Given the description of an element on the screen output the (x, y) to click on. 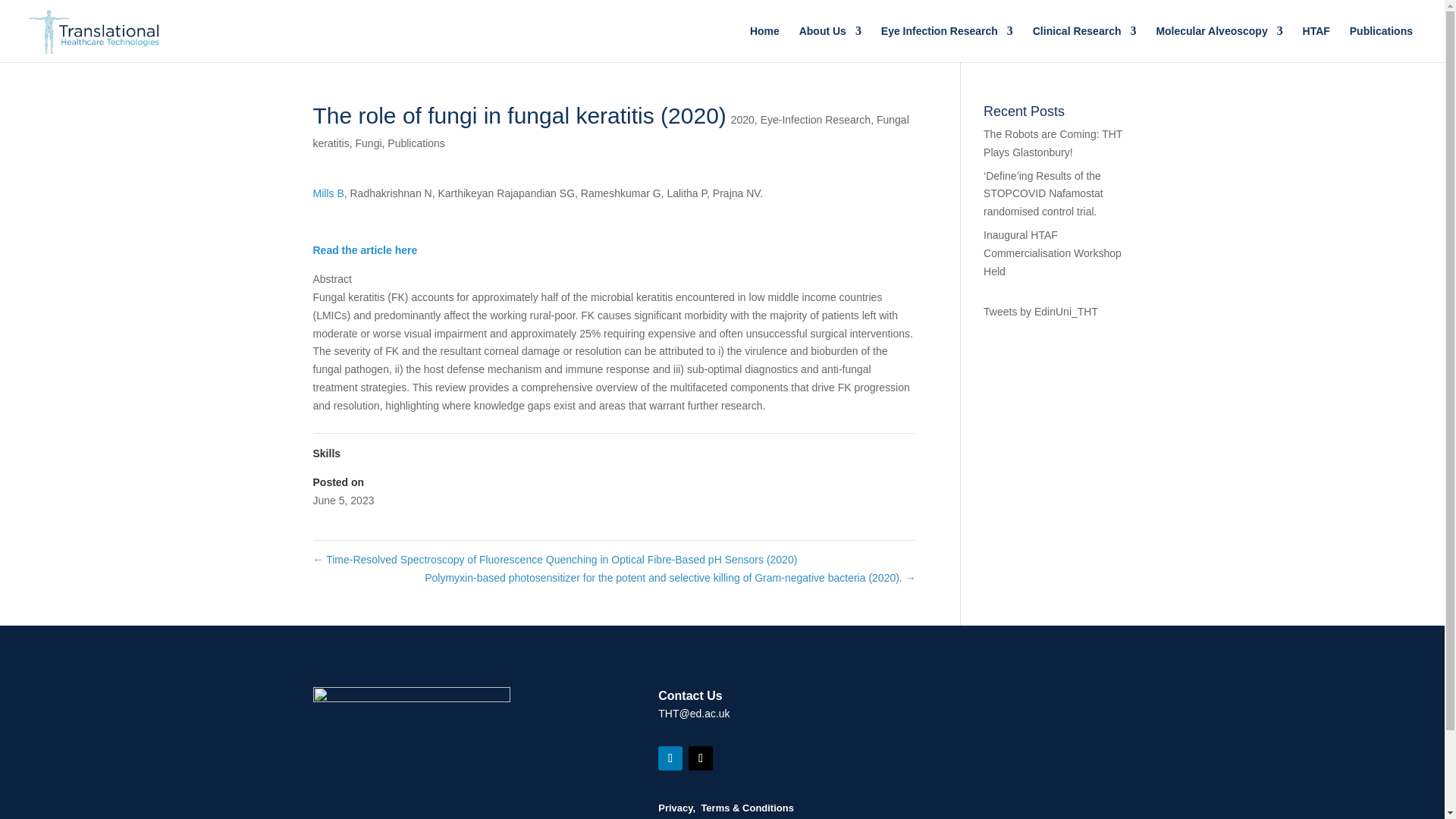
Eye-Infection Research (815, 119)
Follow on X (700, 758)
Mills B (328, 193)
Molecular Alveoscopy (1219, 43)
2020 (742, 119)
Inaugural HTAF Commercialisation Workshop Held (1052, 253)
Clinical Research (1084, 43)
Fungal keratitis (610, 131)
Publications (1380, 43)
Publications (416, 143)
